Given the description of an element on the screen output the (x, y) to click on. 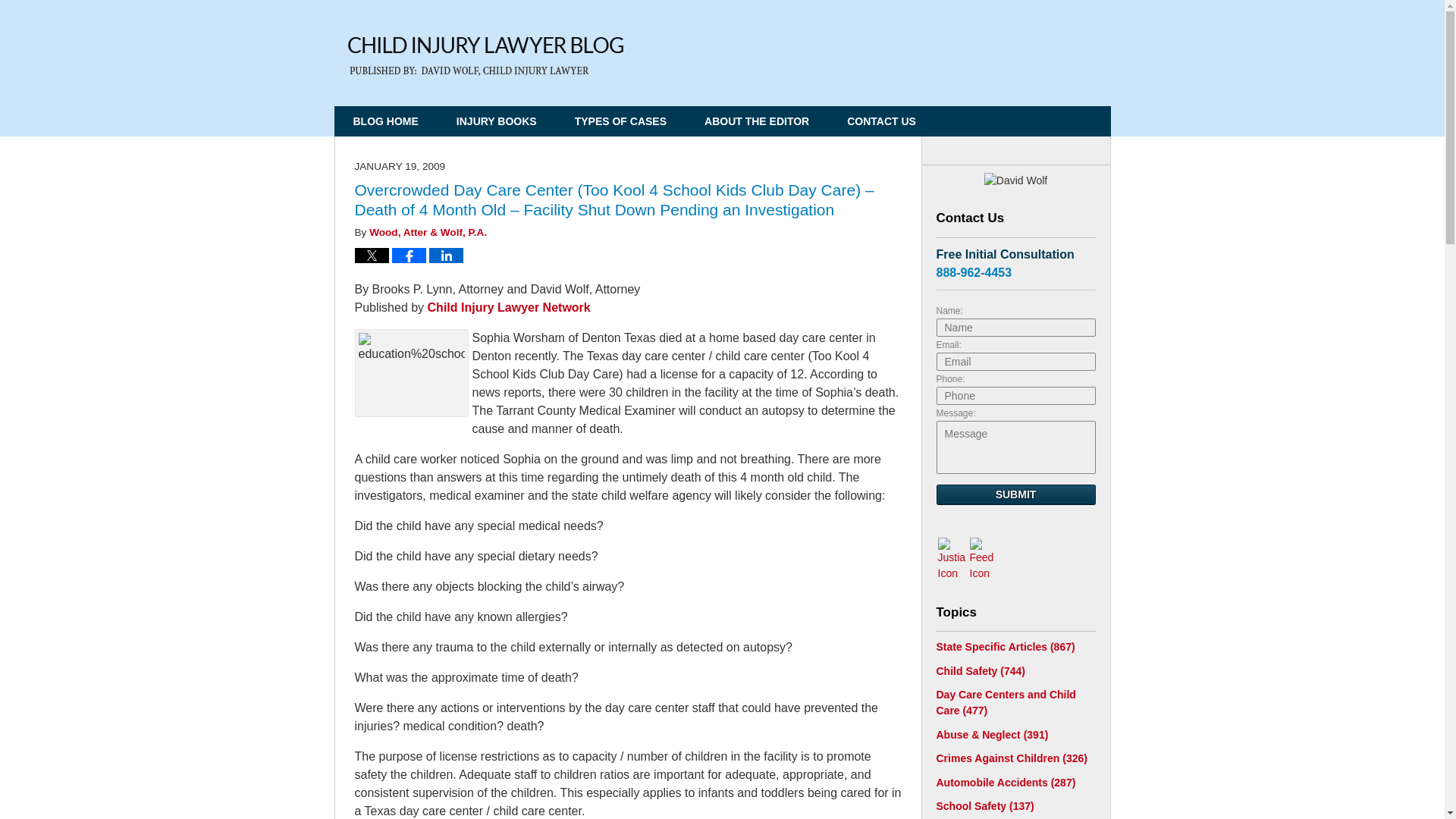
ABOUT THE EDITOR (756, 121)
Child Injury Lawyer Network (509, 307)
SUBMIT (1015, 494)
CONTACT US (881, 121)
Child Injury Lawyer Blog (485, 56)
Published By Child Injury Lawyer Network (1007, 47)
TYPES OF CASES (620, 121)
INJURY BOOKS (497, 121)
BLOG HOME (384, 121)
